Given the description of an element on the screen output the (x, y) to click on. 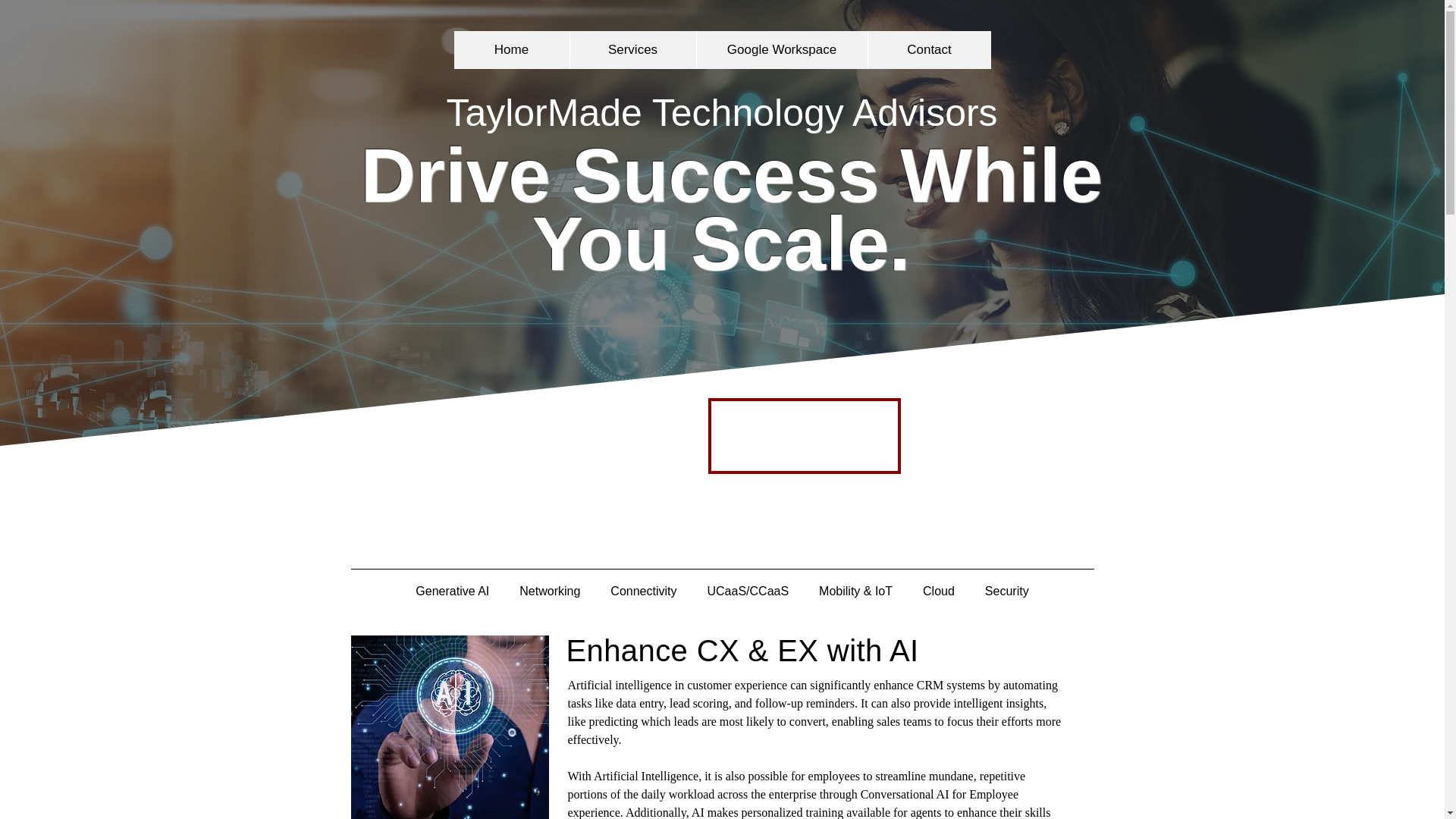
Generative Artificial Intelligence (449, 727)
Services (632, 49)
Contact (929, 49)
Google Workspace (781, 49)
Home (510, 49)
